Given the description of an element on the screen output the (x, y) to click on. 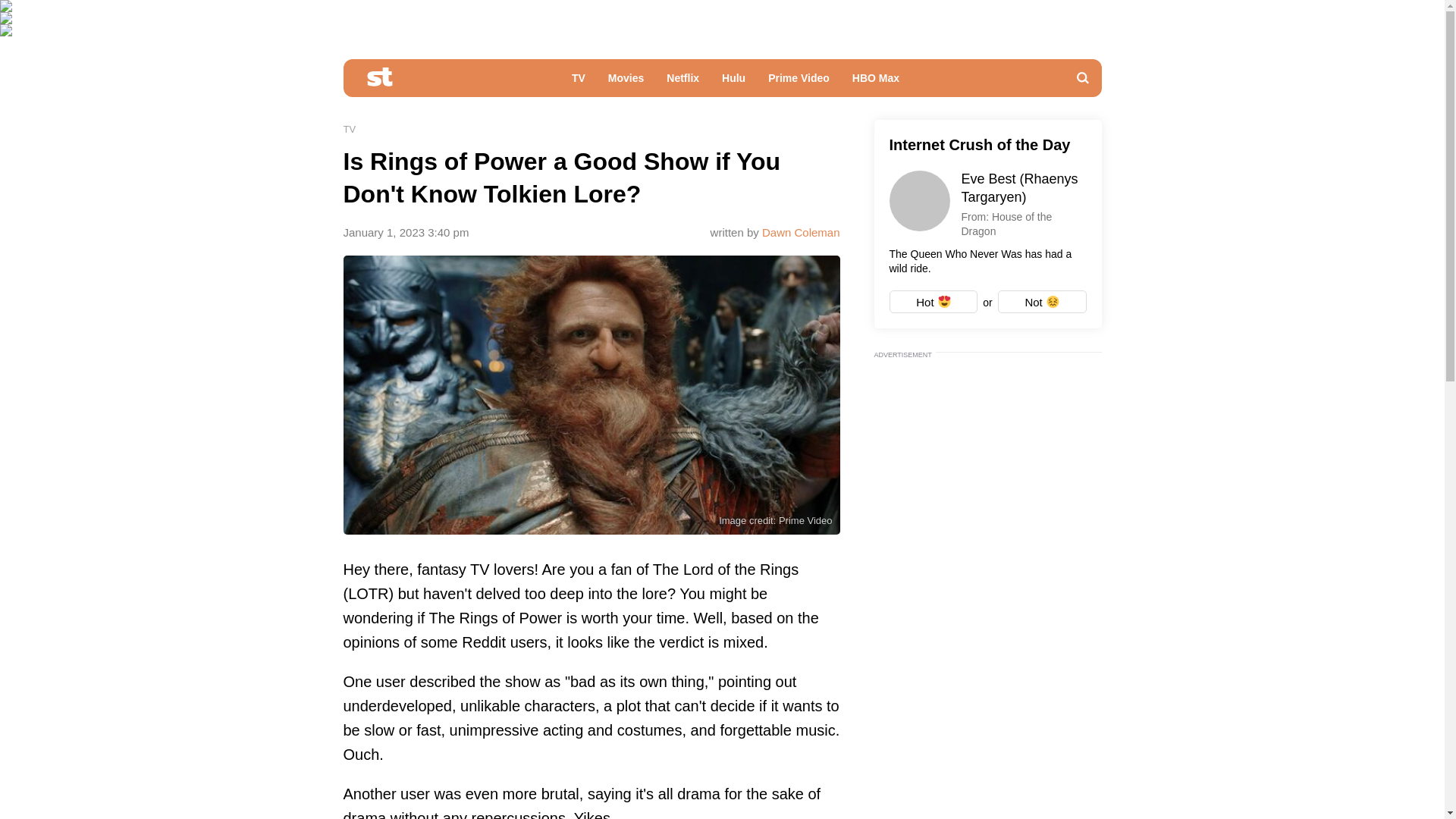
Not (1041, 301)
Netflix (682, 82)
Dawn Coleman (800, 232)
Hot (932, 301)
Movies (625, 82)
TV (578, 82)
Prime Video (799, 82)
HBO Max (876, 82)
Hulu (733, 82)
